Given the description of an element on the screen output the (x, y) to click on. 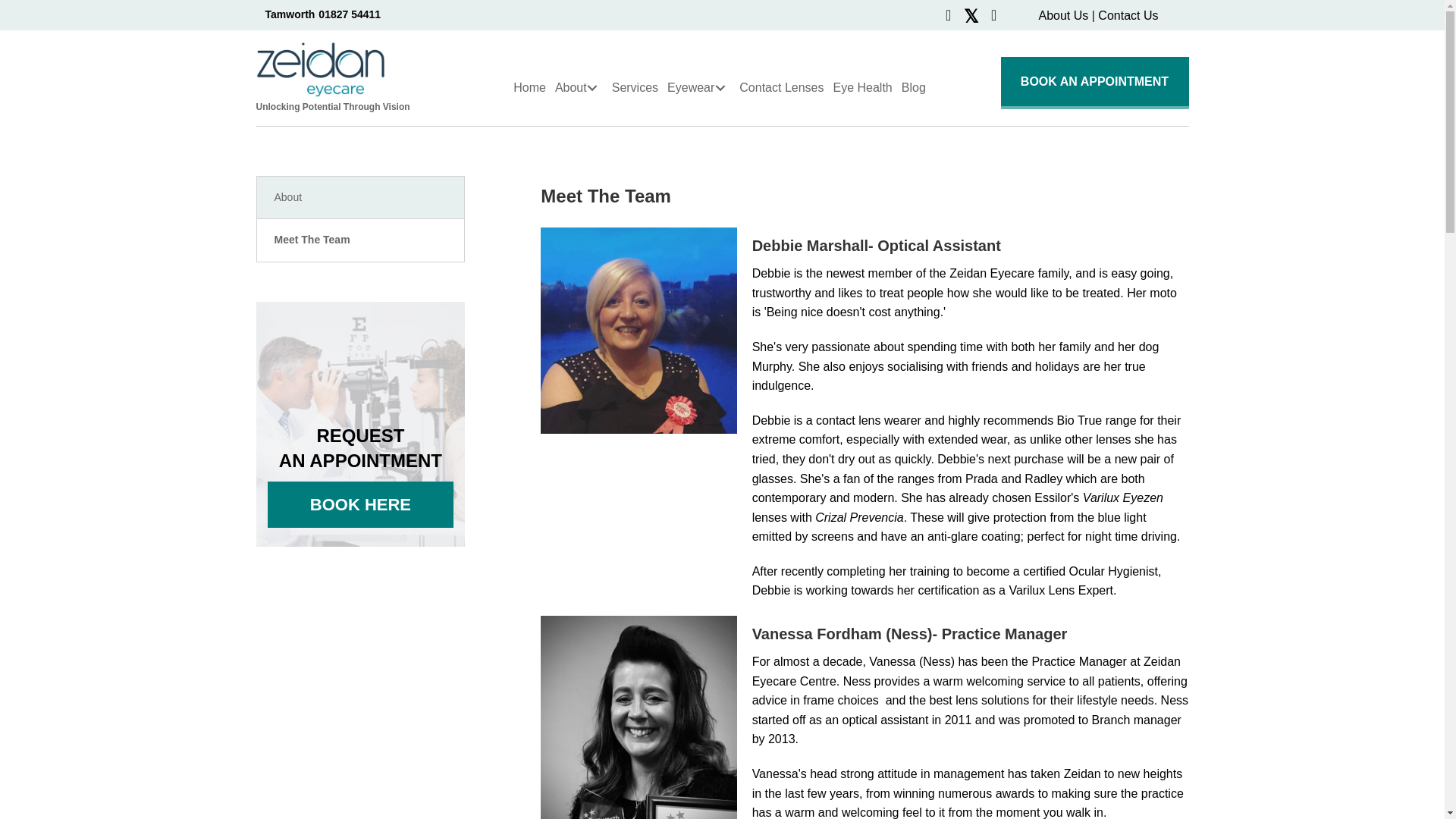
Eye Health (864, 88)
WhatsApp Image 2020-04-10 at 16.04.17 (638, 717)
YouTube (994, 14)
Twitter (970, 14)
Meet The Team (360, 239)
01827 54411 (349, 14)
BOOK HERE (359, 504)
Facebook (948, 14)
Contact Us (1127, 15)
Contact Lenses (783, 88)
WhatsApp Image 2020-04-10 at 15.35.50 (638, 330)
About Us (1062, 15)
Services (637, 88)
Tamworth (289, 14)
Blog (916, 88)
